Given the description of an element on the screen output the (x, y) to click on. 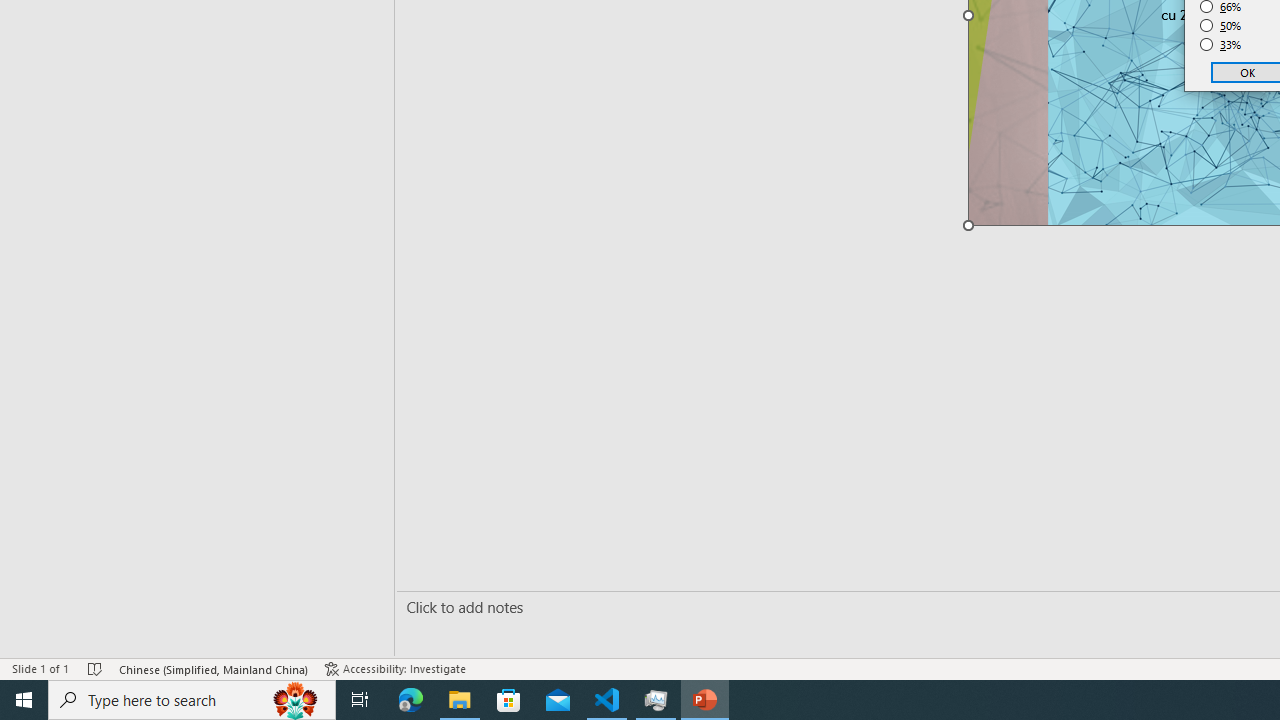
Spelling and Grammar Check Errors (208, 640)
